Given the description of an element on the screen output the (x, y) to click on. 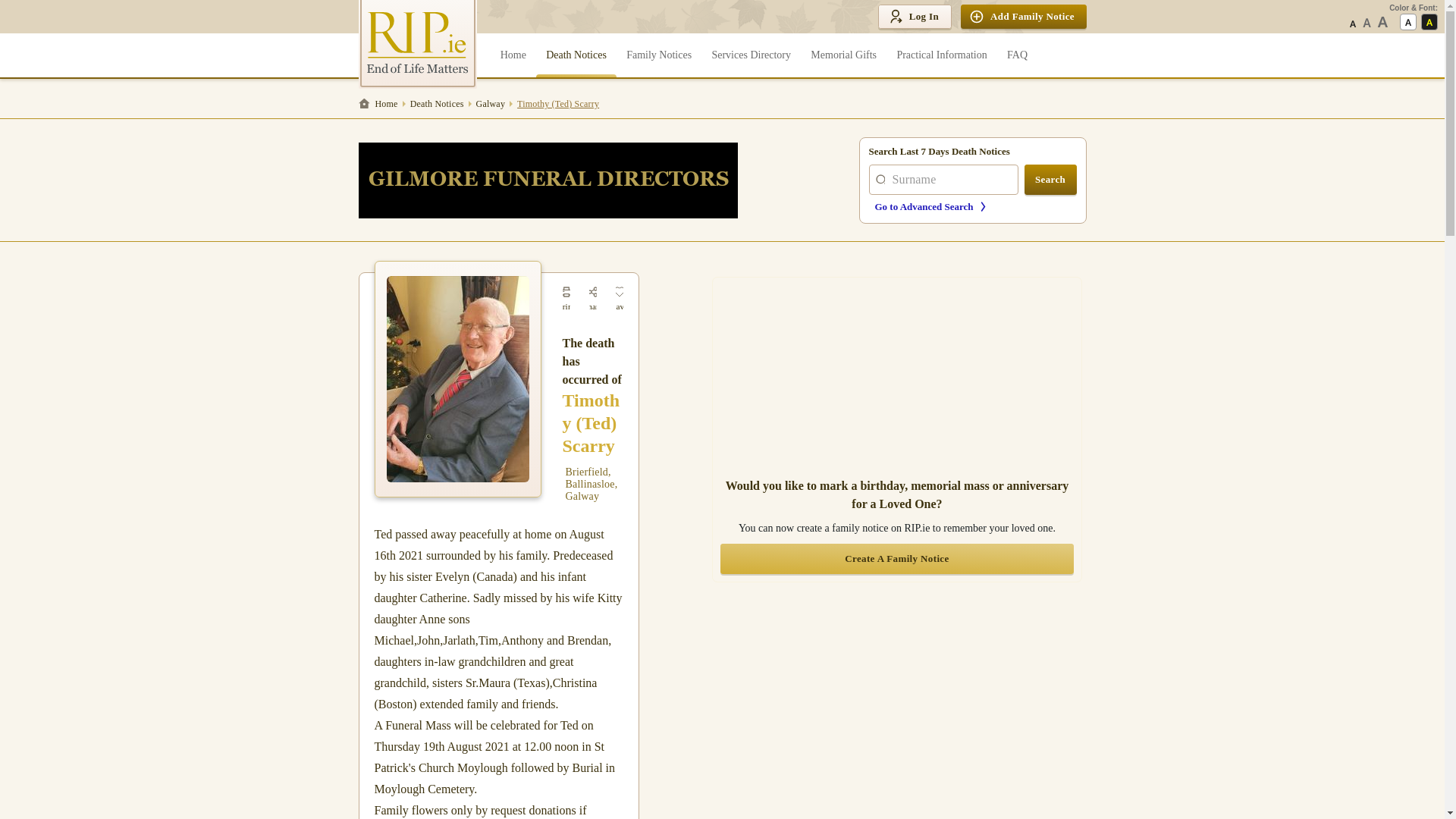
Galway (491, 103)
Create A Family Notice (896, 558)
Practical Information (941, 54)
Add Family Notice (1023, 16)
Log In (913, 16)
Death Notices (437, 103)
Death Notices (575, 54)
Go to Advanced Search (976, 206)
Services Directory (750, 54)
Memorial Gifts (843, 54)
Search (1051, 179)
FAQ (1016, 54)
Family Notices (658, 54)
Home (380, 103)
Home (512, 54)
